Given the description of an element on the screen output the (x, y) to click on. 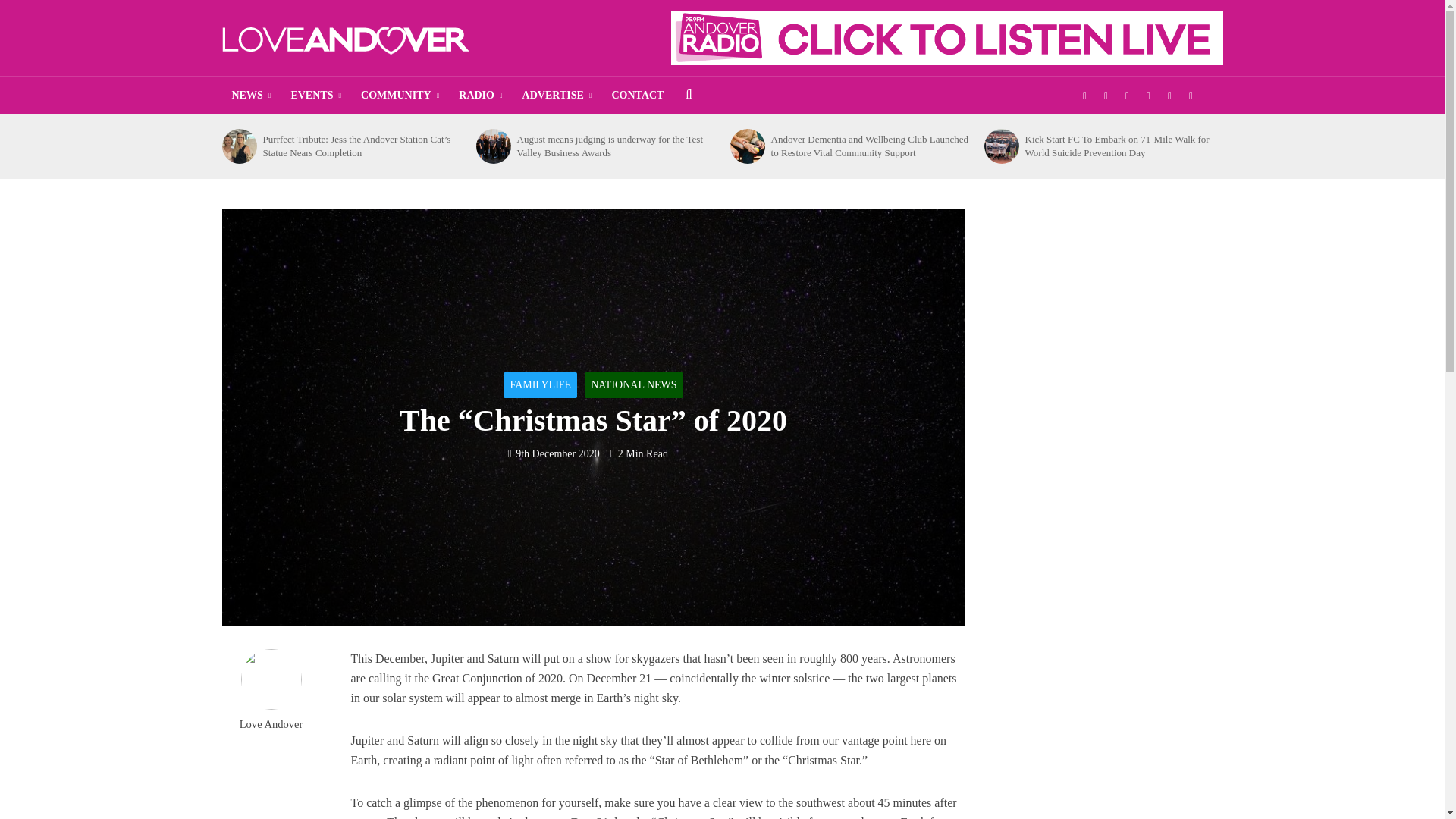
NEWS (251, 95)
RADIO (480, 95)
EVENTS (315, 95)
CONTACT (636, 95)
COMMUNITY (399, 95)
ADVERTISE (557, 95)
